Given the description of an element on the screen output the (x, y) to click on. 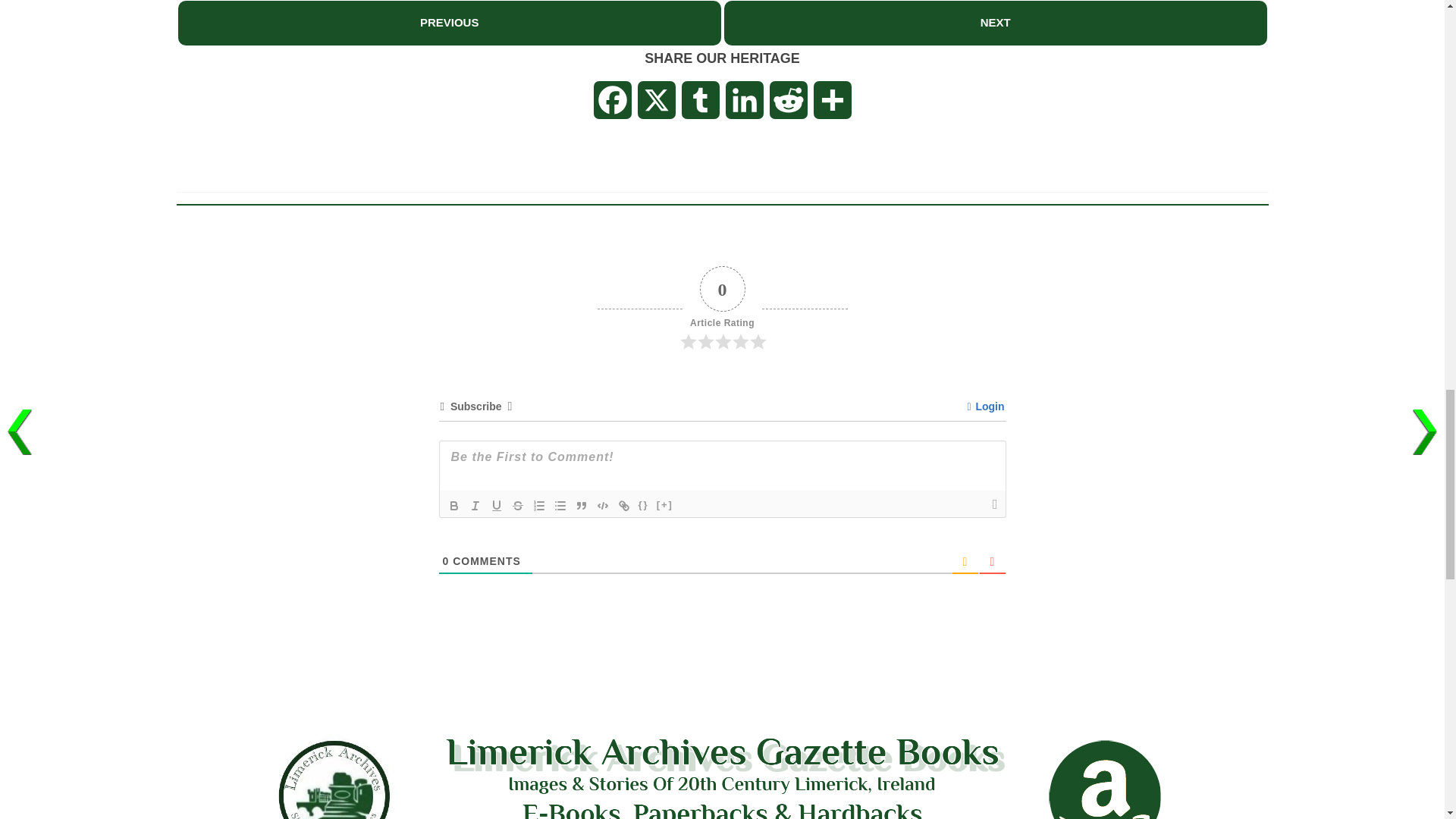
PREVIOUS (449, 21)
NEXT (995, 21)
Limerick County Council Debates Immigration Resolution (449, 21)
NEXT (994, 22)
Strike (516, 505)
Ordered List (537, 505)
PREVIOUS (448, 22)
Bold (453, 505)
Unordered List (559, 505)
Italic (474, 505)
Login (985, 406)
Underline (495, 505)
